Given the description of an element on the screen output the (x, y) to click on. 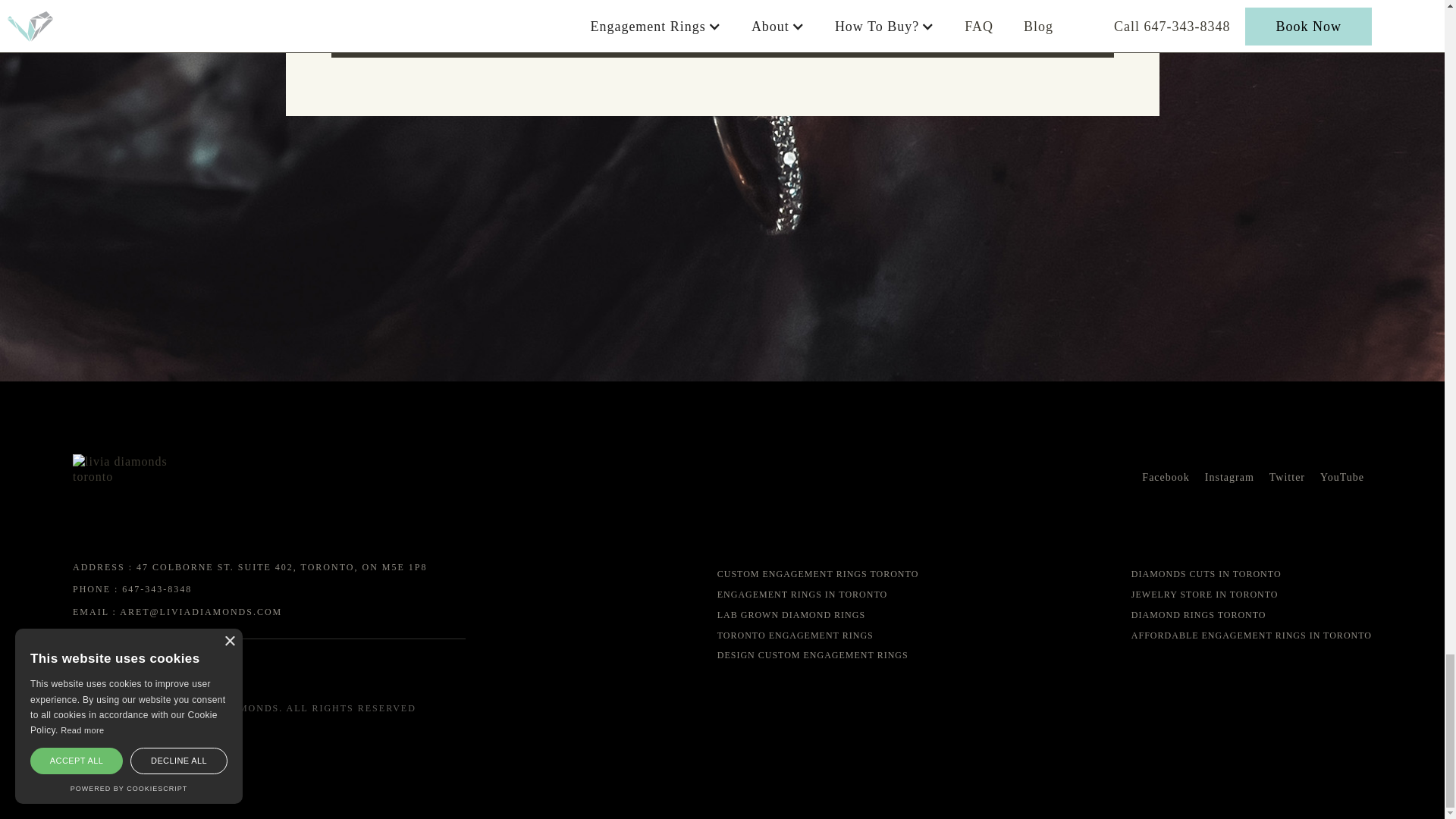
Facebook (1165, 477)
Twitter (1286, 477)
Instagram (1229, 477)
Submit (721, 34)
YouTube (1342, 477)
PRIVACY POLICY (268, 664)
Submit (721, 34)
